Given the description of an element on the screen output the (x, y) to click on. 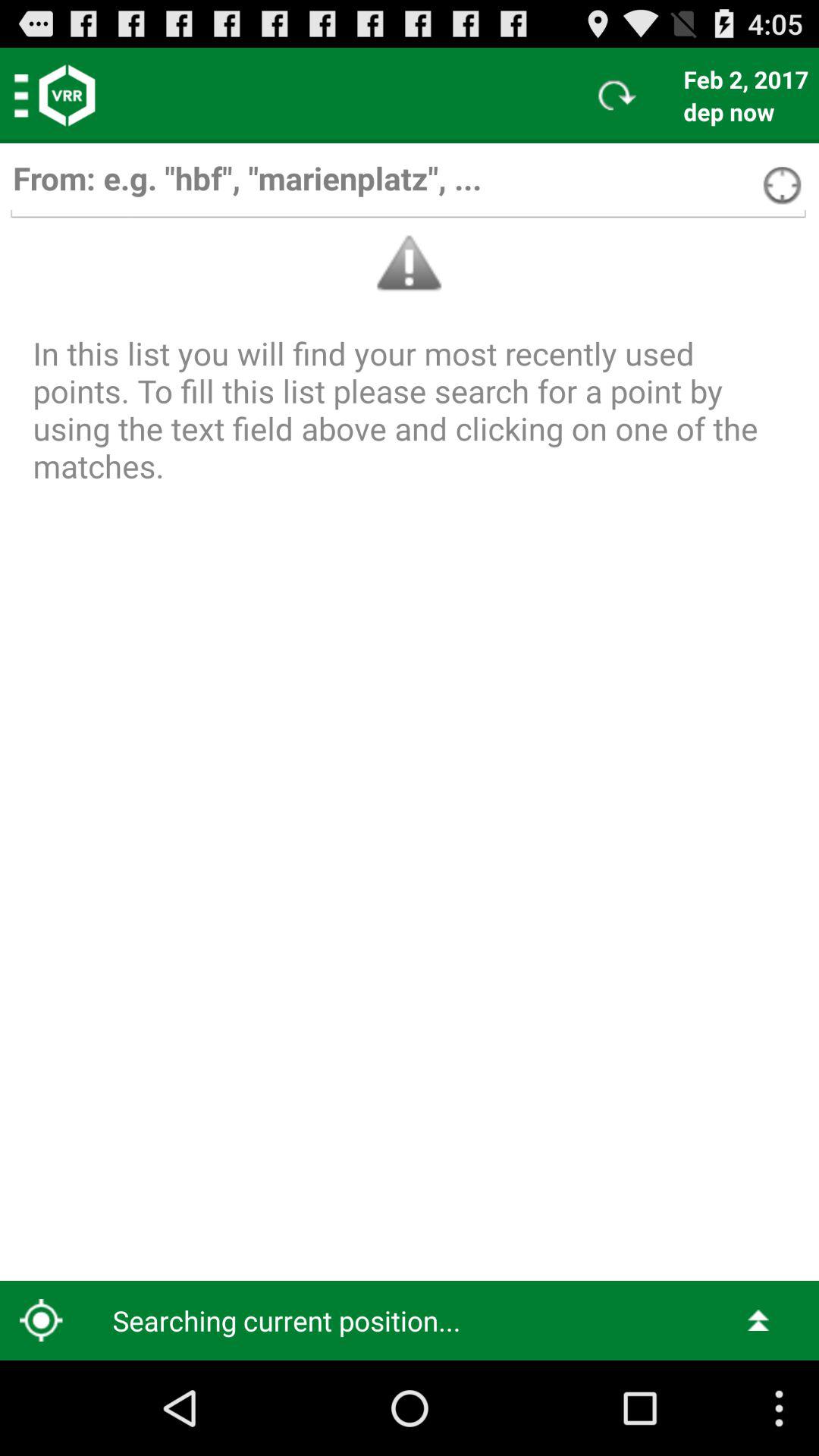
go to search box (407, 185)
